Given the description of an element on the screen output the (x, y) to click on. 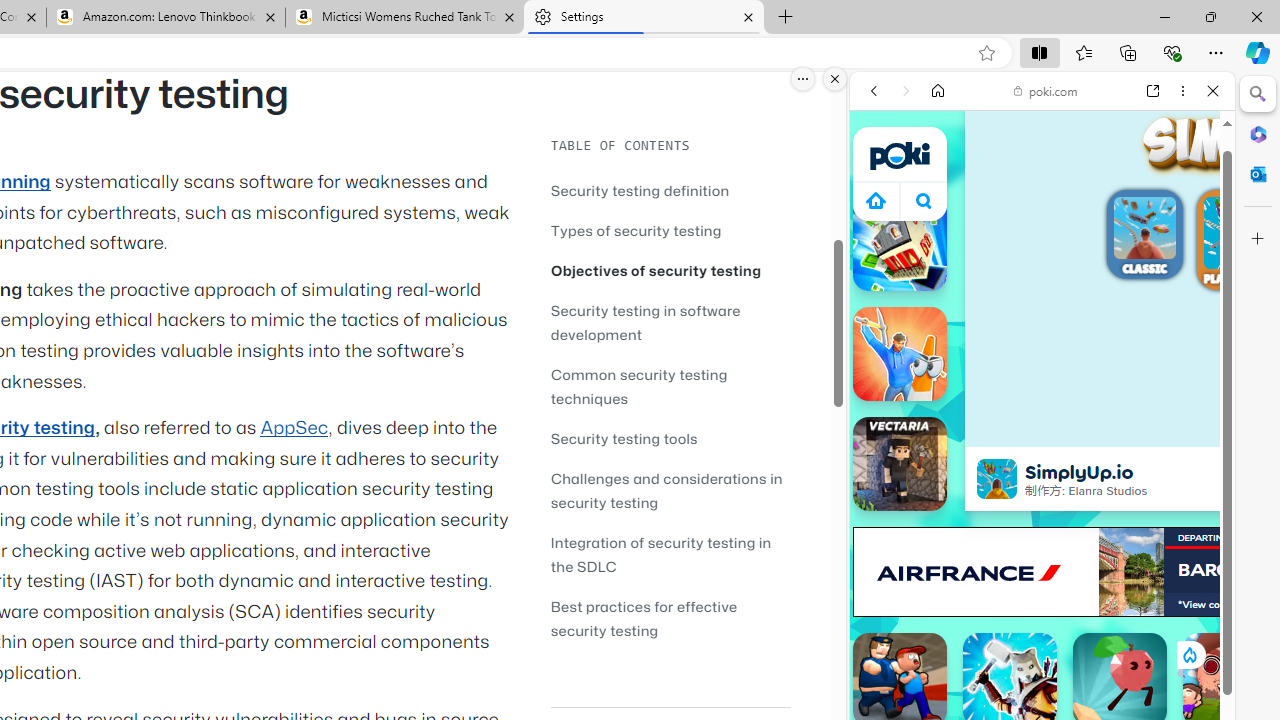
Class: rounded img-fluid d-block w-100 fit-cover (1240, 232)
Poki (1034, 288)
Web scope (882, 180)
Shooting Games (1042, 518)
Two Player Games (1042, 568)
Integration of security testing in the SDLC (660, 554)
Security testing tools (623, 438)
Io Games (1042, 617)
Stack City (899, 243)
Search the web (1051, 137)
Search Filter, WEB (882, 228)
Class: rCs5cyEiqiTpYvt_VBCR (1189, 654)
